Given the description of an element on the screen output the (x, y) to click on. 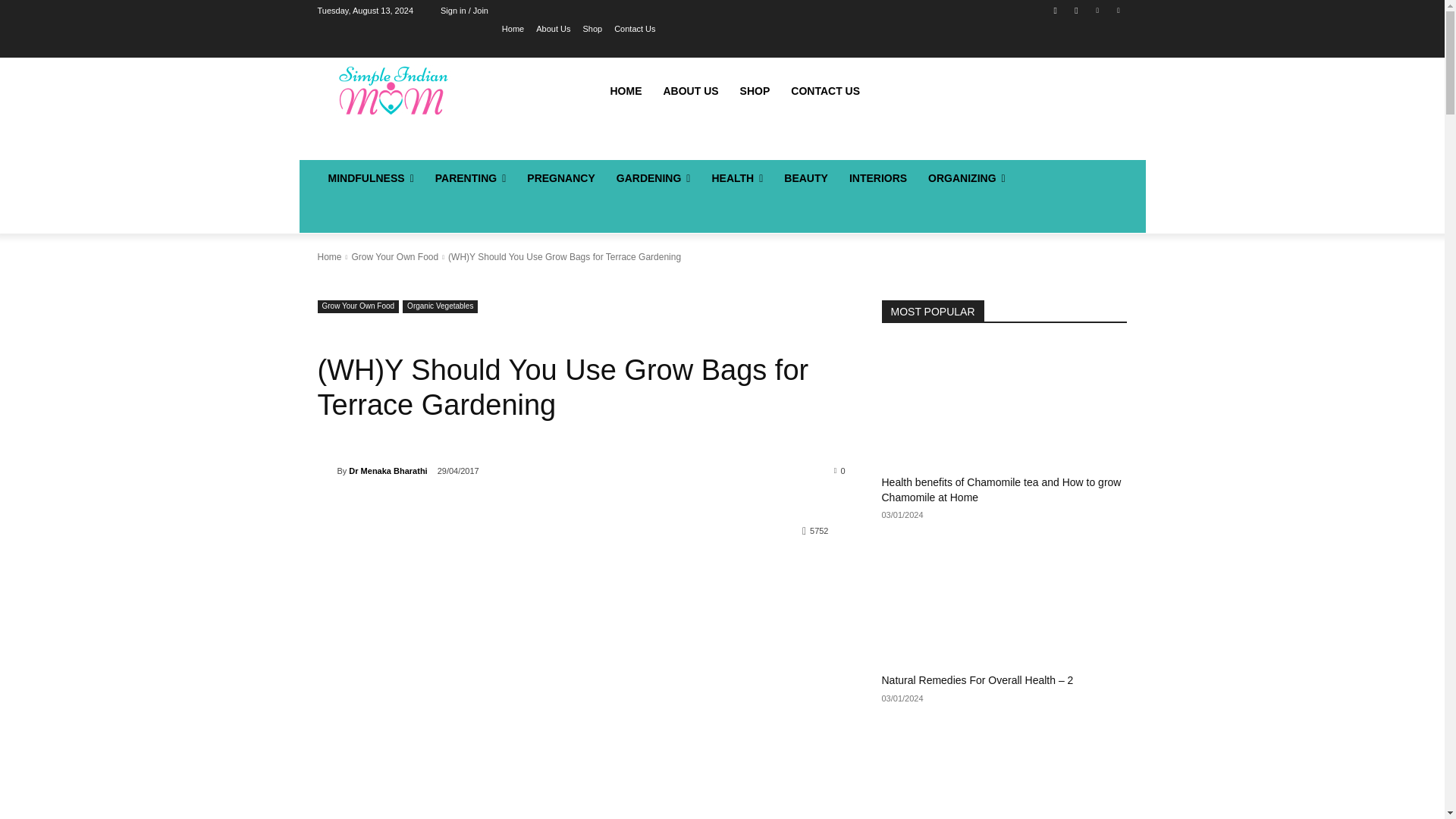
MINDFULNESS (370, 177)
Shop (592, 28)
SHOP (754, 90)
Pinterest (1097, 9)
Contact Us (634, 28)
Home (513, 28)
Dr Menaka Bharathi (326, 470)
View all posts in Grow Your Own Food (394, 256)
CONTACT US (825, 90)
Facebook (1055, 9)
